Given the description of an element on the screen output the (x, y) to click on. 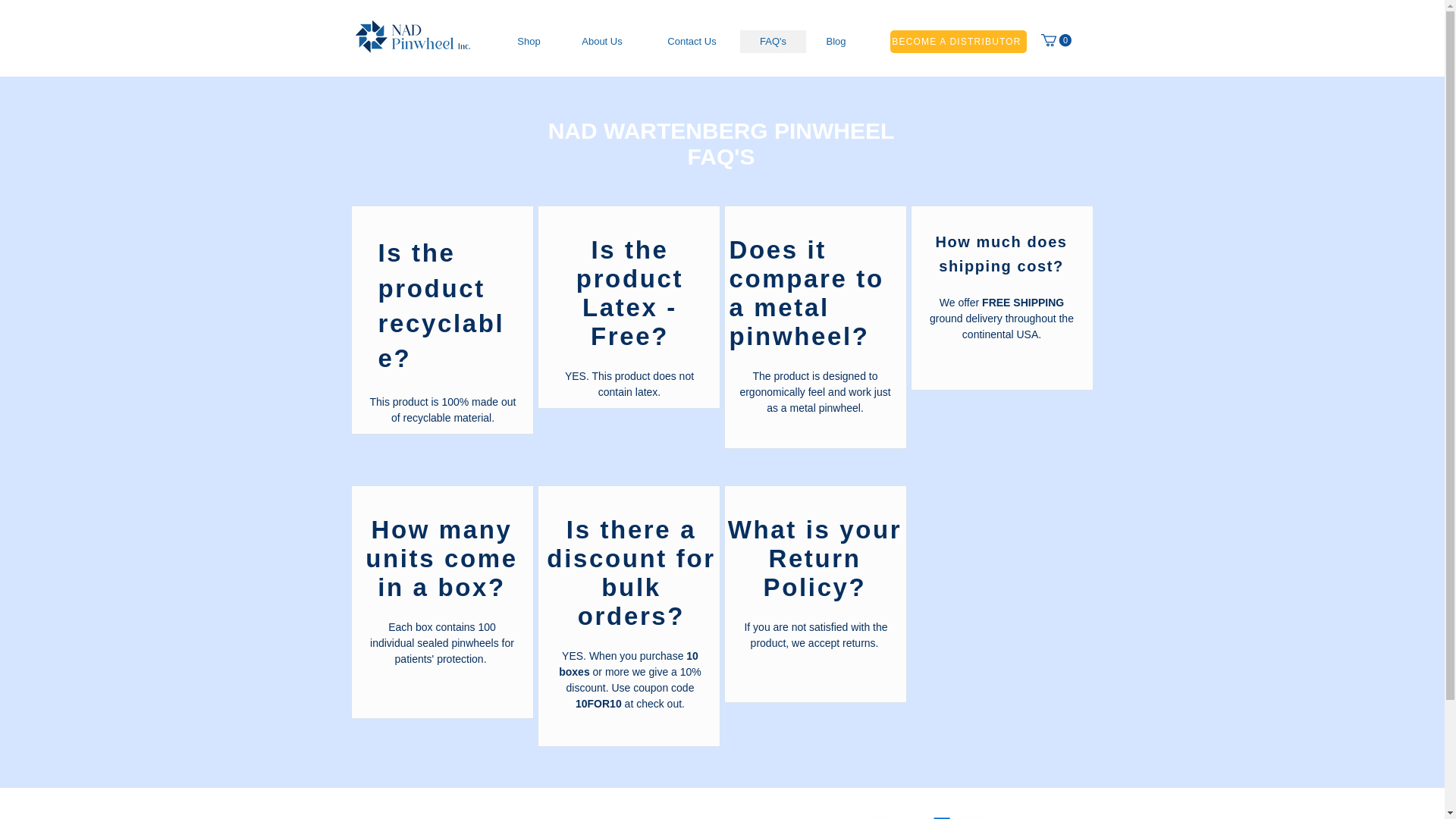
0 (1055, 40)
0 (1055, 39)
BECOME A DISTRIBUTOR (957, 41)
Shop (528, 41)
FAQ's (772, 41)
Contact Us (691, 41)
About Us (601, 41)
Blog (834, 41)
